Given the description of an element on the screen output the (x, y) to click on. 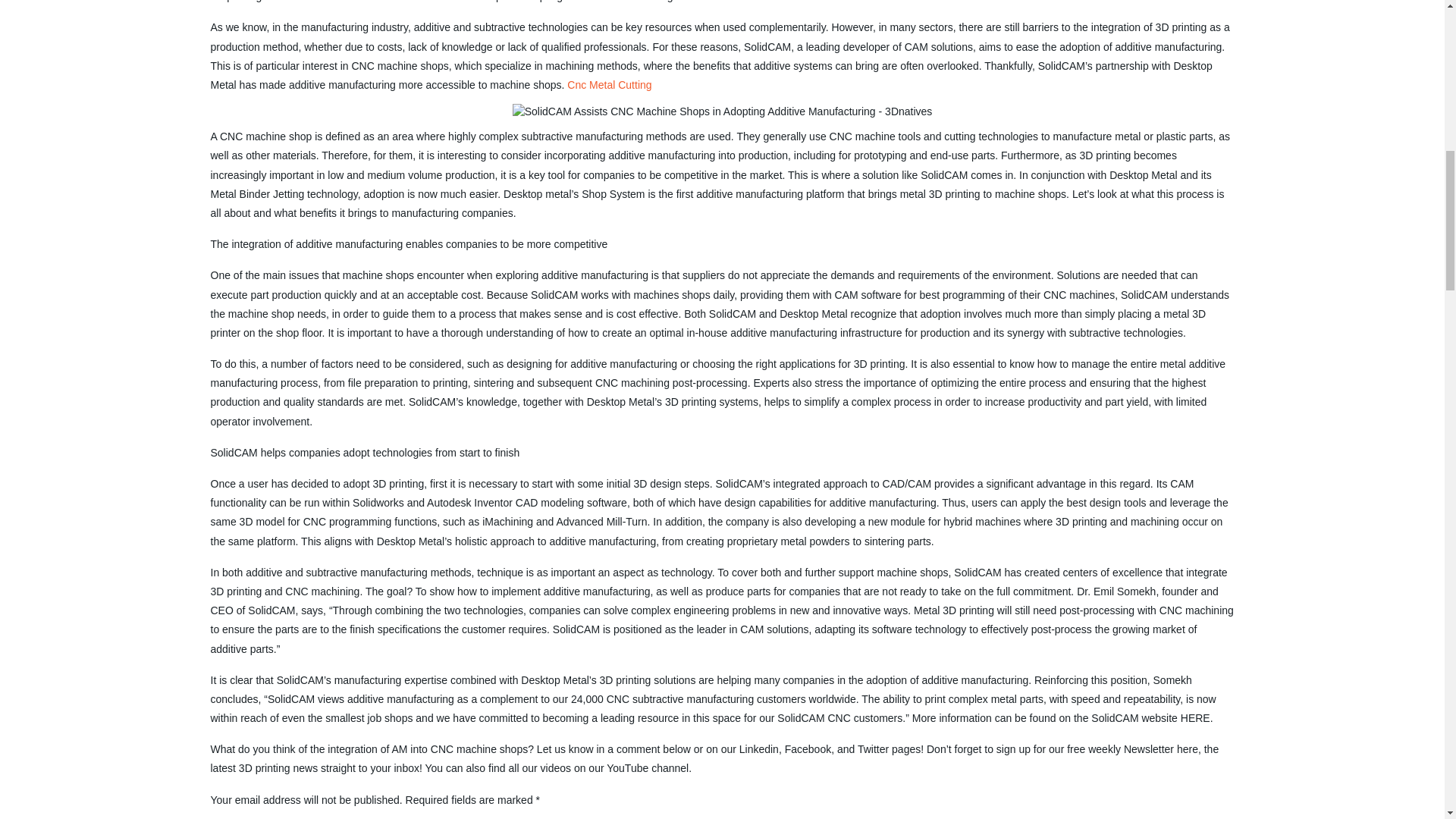
Cnc Metal Cutting (608, 84)
